Given the description of an element on the screen output the (x, y) to click on. 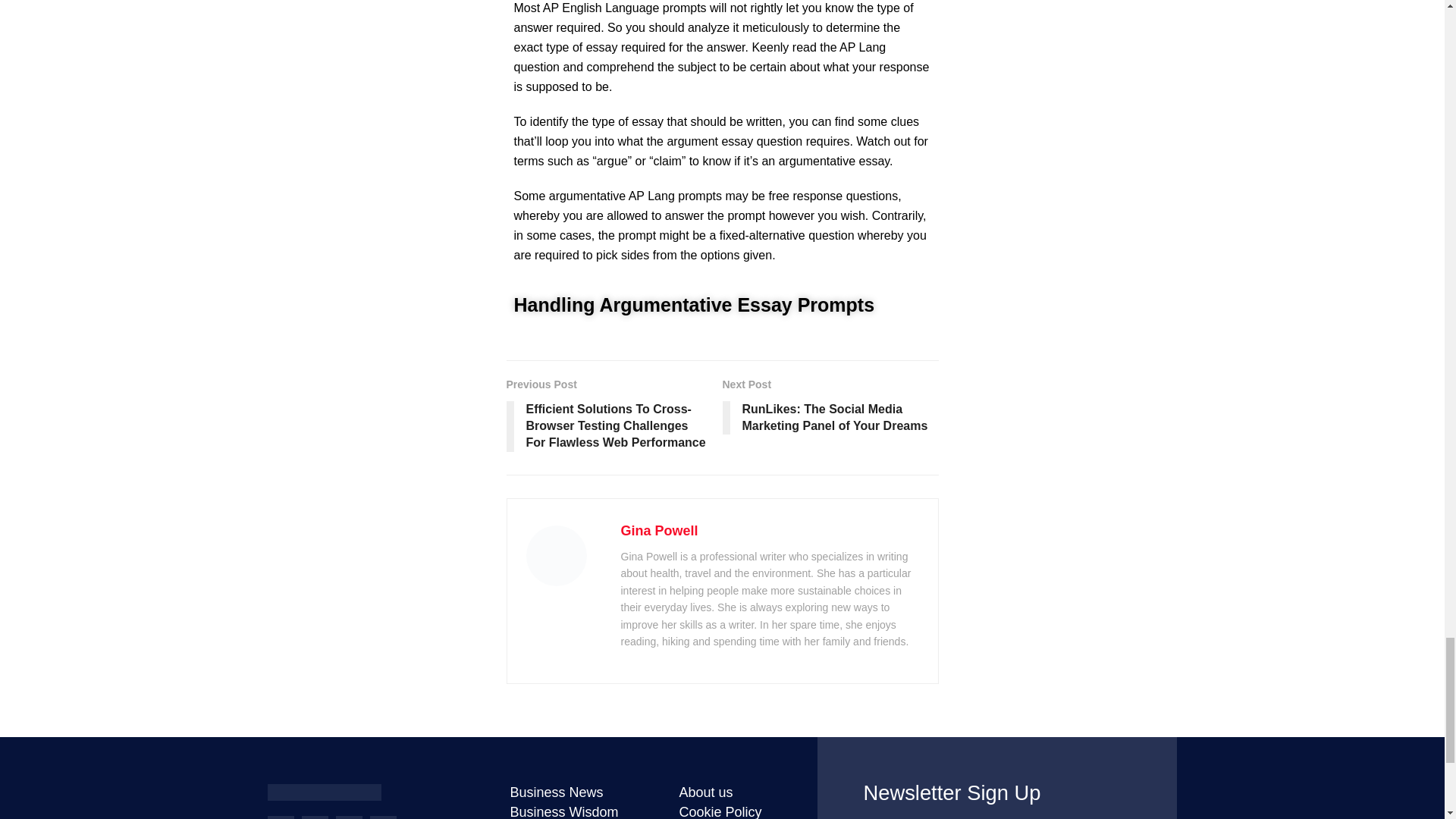
Business Wisdom (579, 810)
Gina Powell (658, 530)
Business News (579, 792)
